Given the description of an element on the screen output the (x, y) to click on. 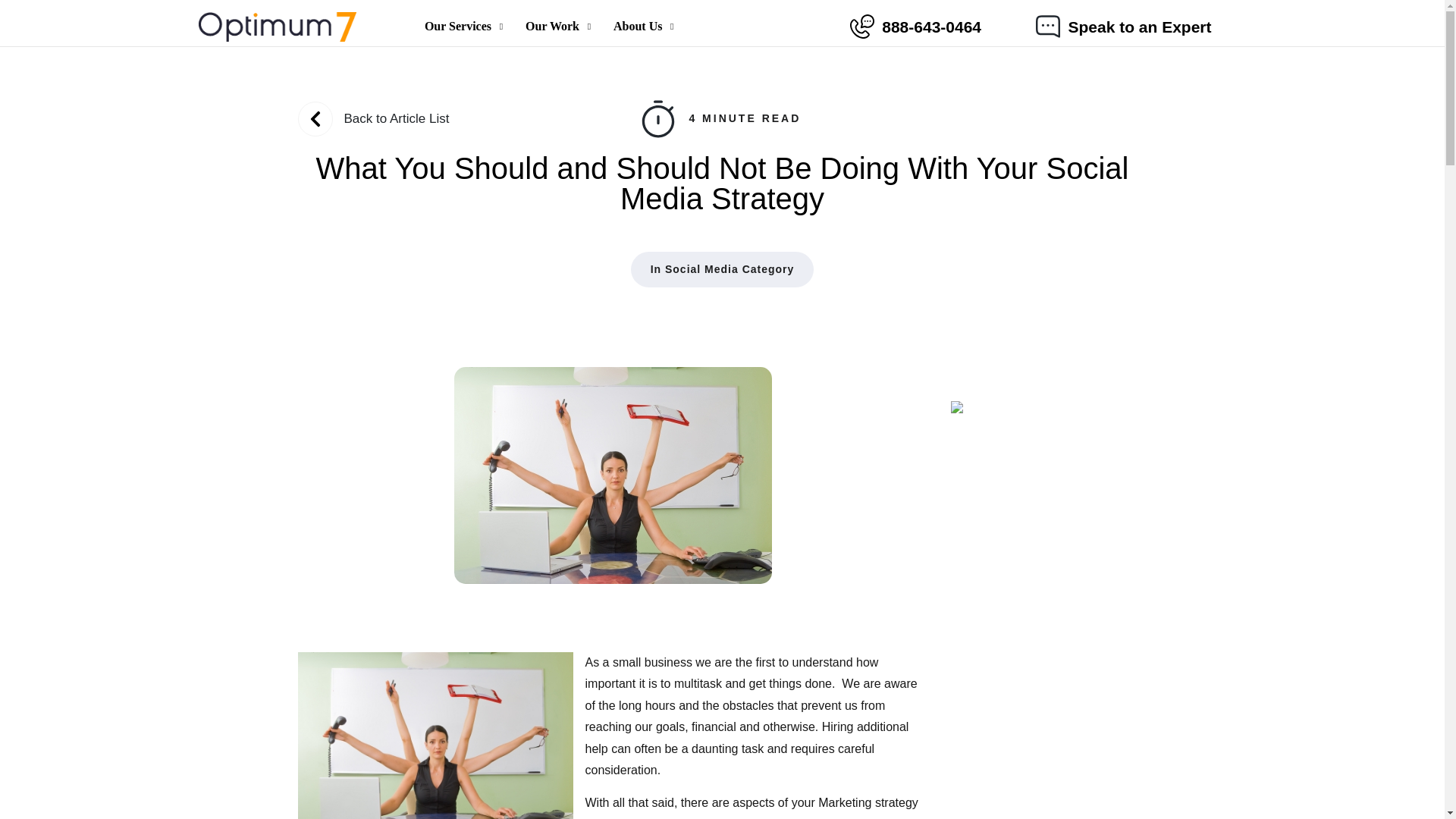
Our Services (545, 26)
Our Work (460, 26)
